Given the description of an element on the screen output the (x, y) to click on. 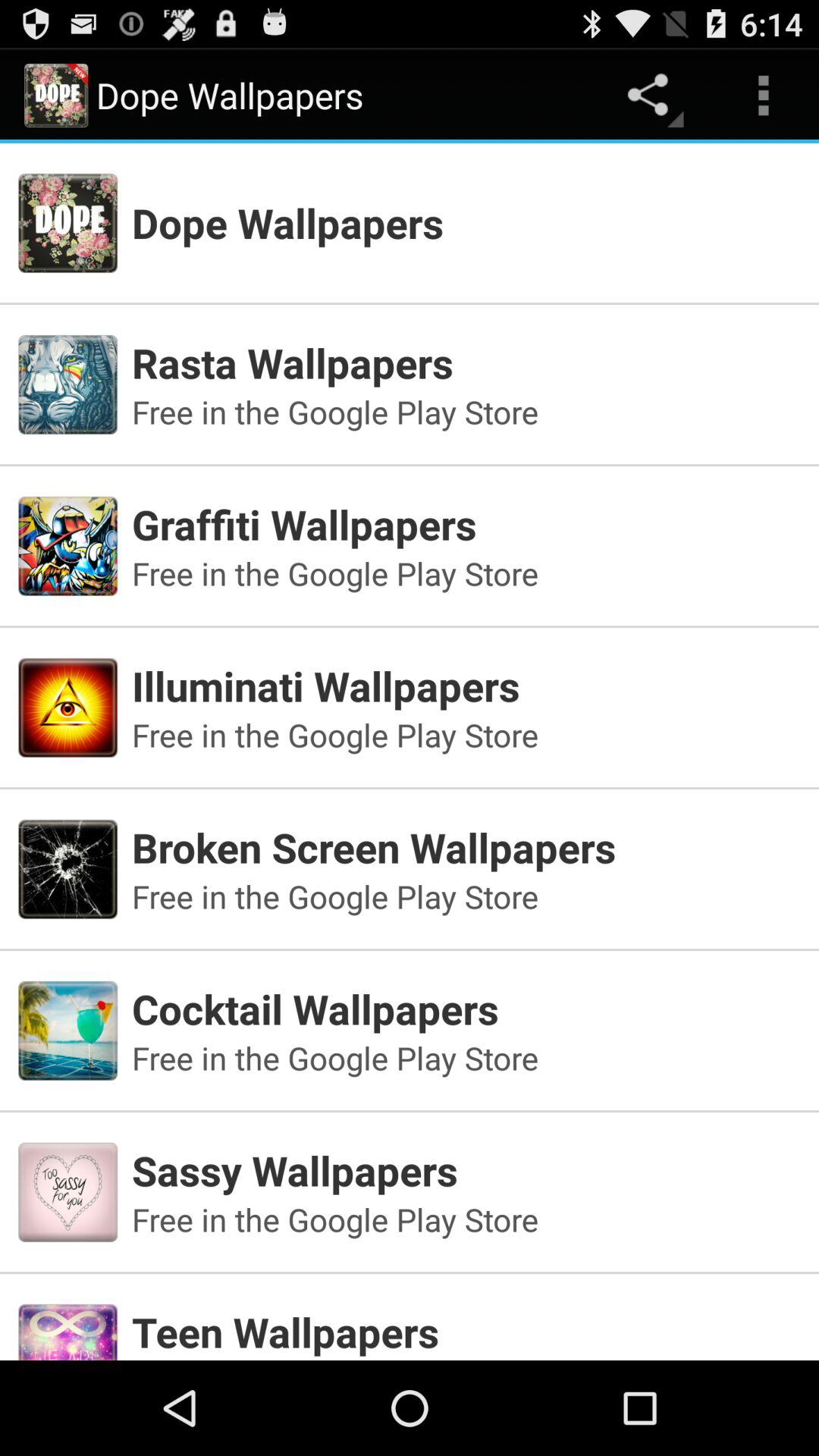
go to wallpaper theme (409, 1310)
